Given the description of an element on the screen output the (x, y) to click on. 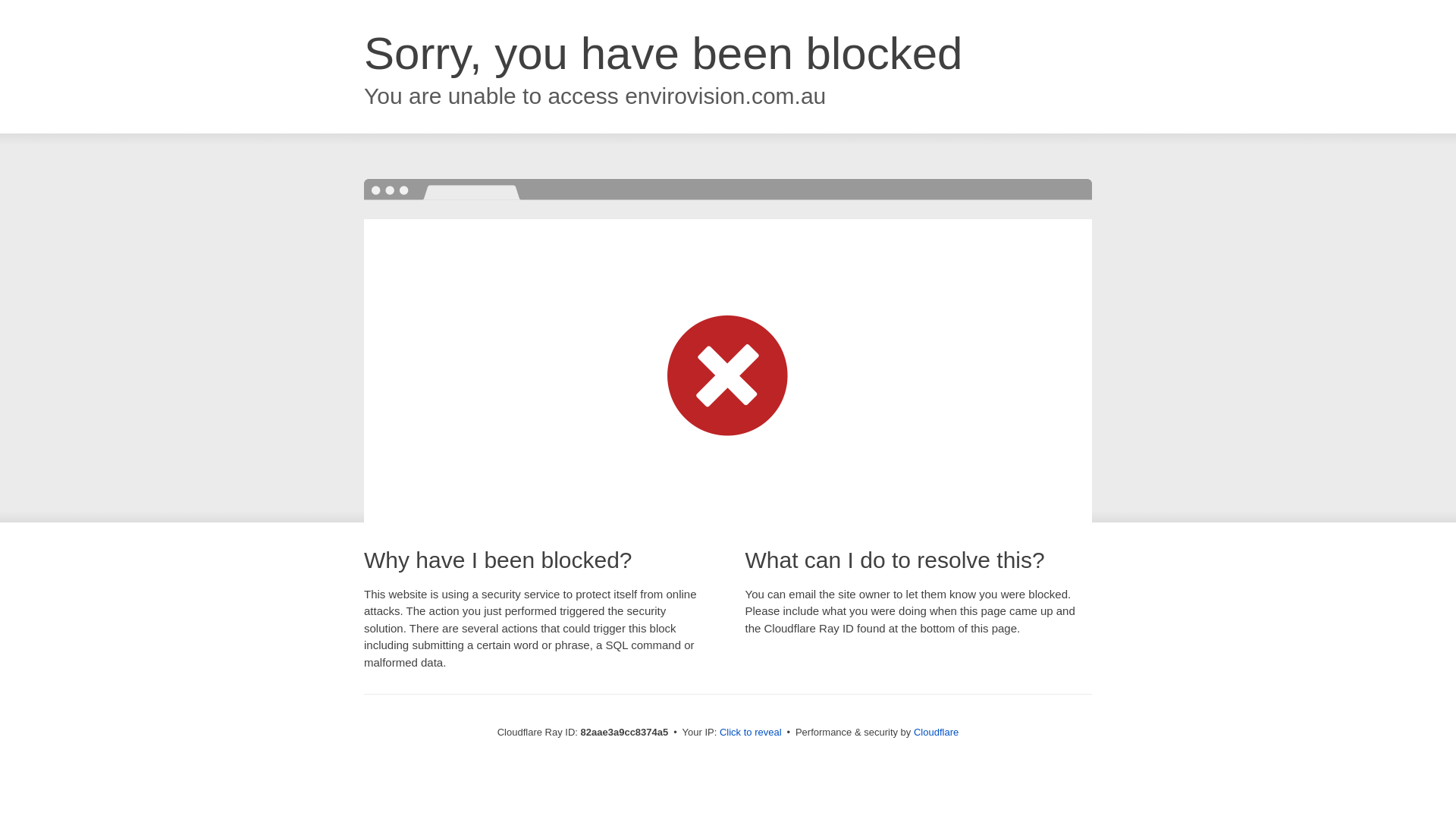
Click to reveal Element type: text (750, 732)
Cloudflare Element type: text (935, 731)
